Given the description of an element on the screen output the (x, y) to click on. 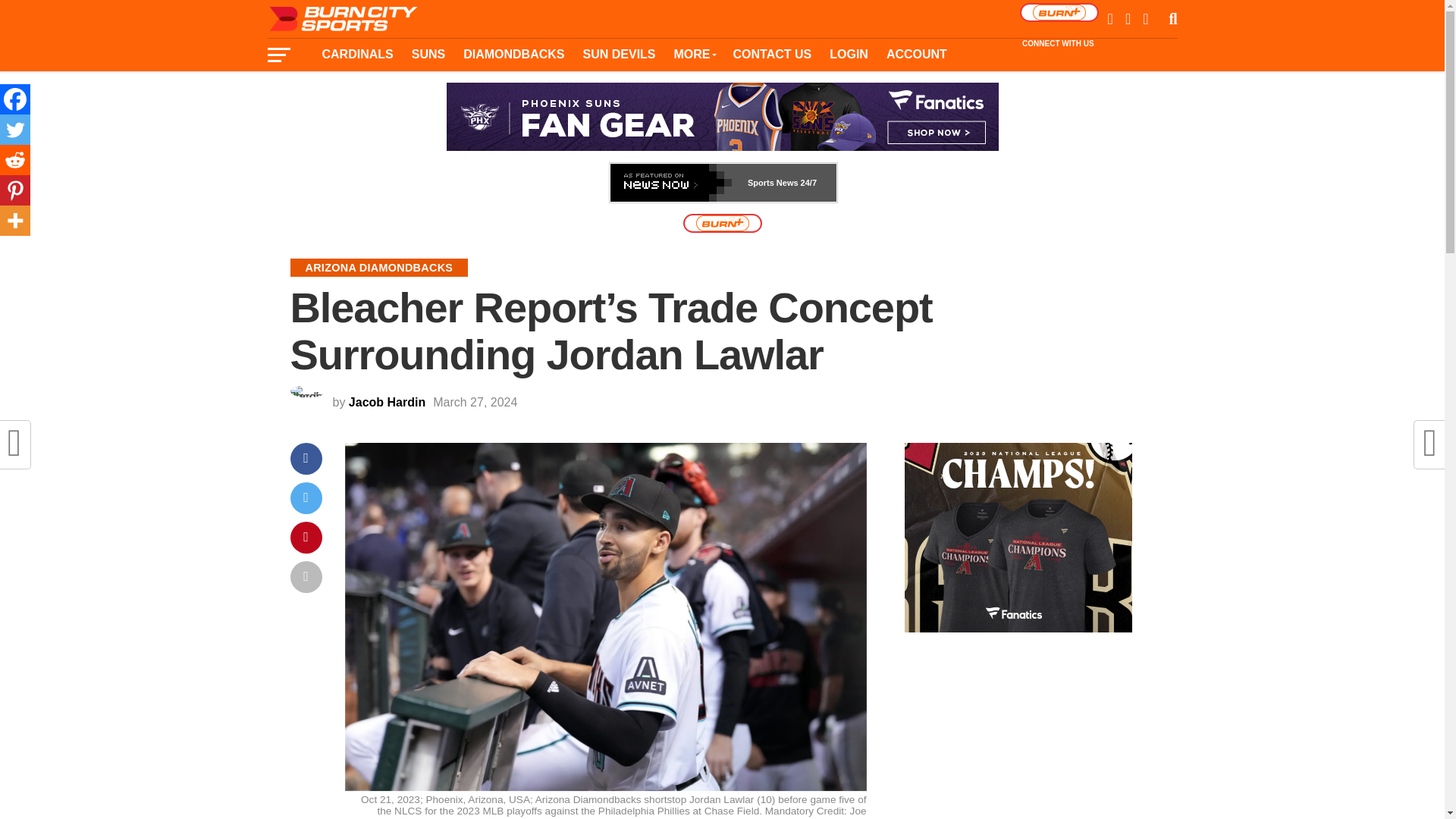
More (15, 220)
Twitter (15, 129)
Posts by Jacob Hardin (387, 401)
SUN DEVILS (618, 54)
SUNS (428, 54)
Pinterest (15, 190)
CARDINALS (357, 54)
Reddit (15, 159)
Facebook (15, 99)
Click here for more Sports news from NewsNow (722, 182)
